Given the description of an element on the screen output the (x, y) to click on. 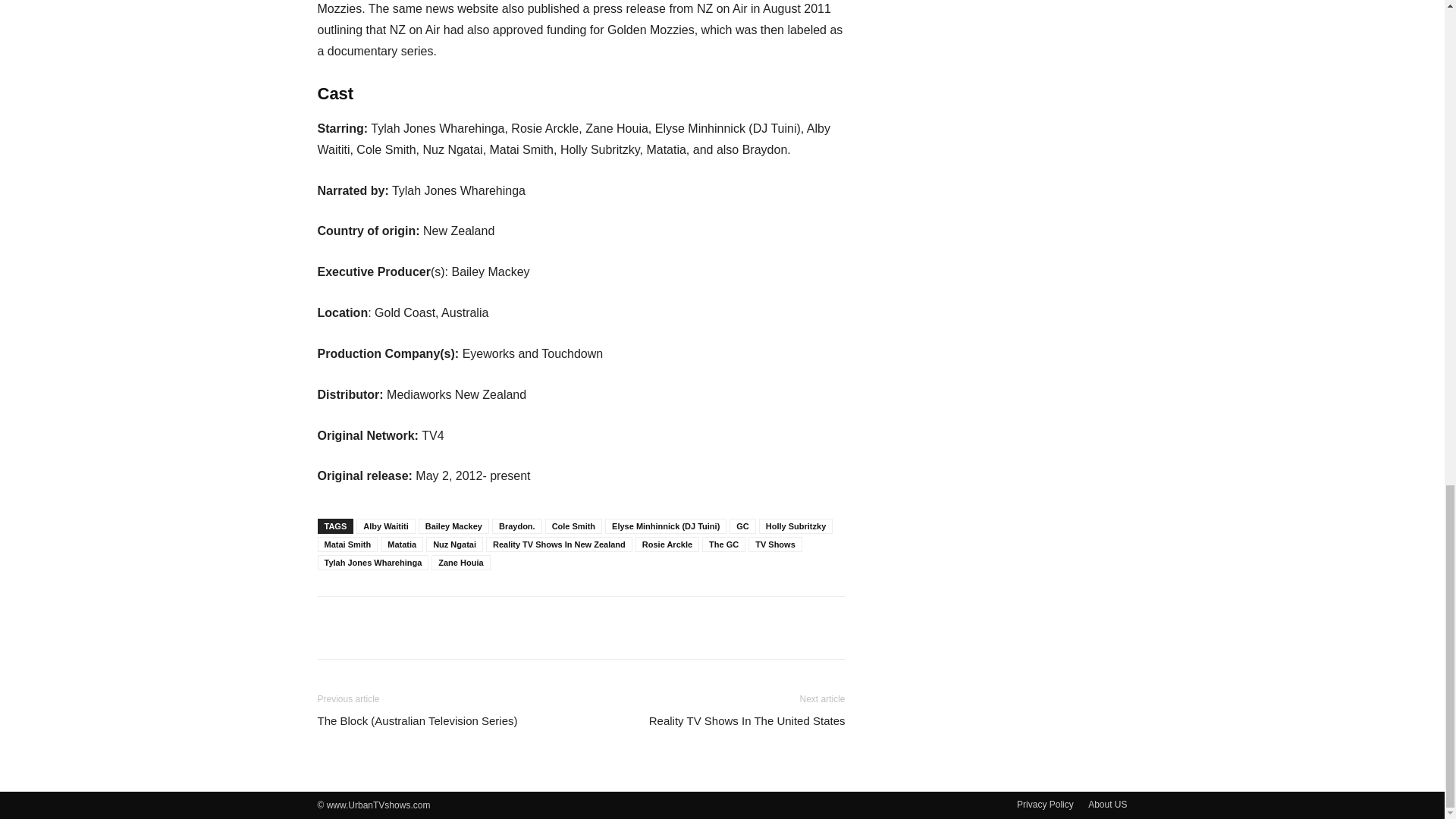
Holly Subritzky (795, 525)
Braydon. (516, 525)
Cole Smith (573, 525)
Matai Smith (347, 544)
Bailey Mackey (454, 525)
GC (742, 525)
Nuz Ngatai (454, 544)
Alby Waititi (385, 525)
Matatia (401, 544)
